Given the description of an element on the screen output the (x, y) to click on. 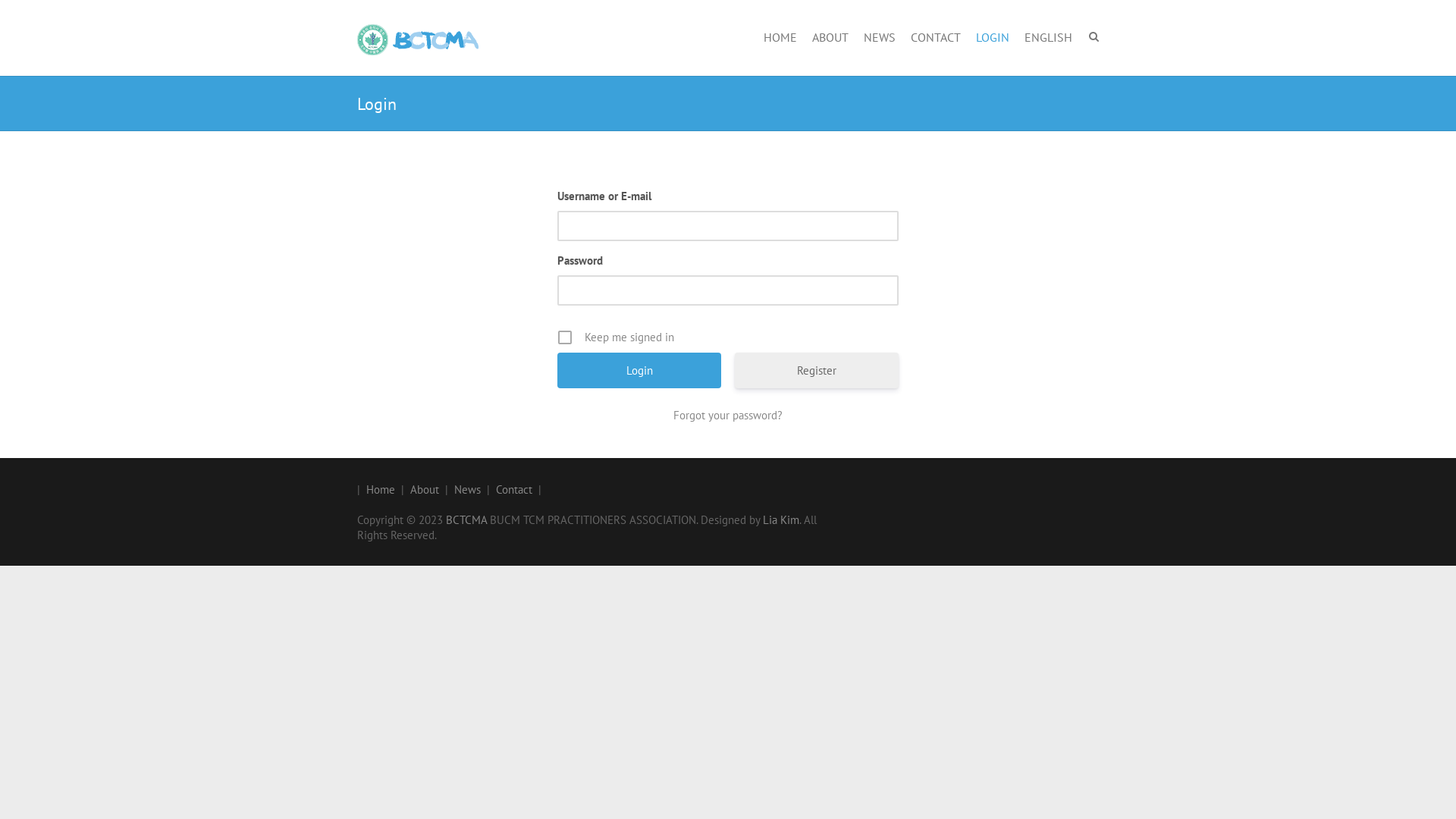
ABOUT Element type: text (830, 37)
Home Element type: text (380, 489)
Lia Kim Element type: text (780, 519)
HOME Element type: text (780, 37)
Login Element type: text (639, 370)
ENGLISH Element type: text (1048, 37)
About Element type: text (424, 489)
CONTACT Element type: text (935, 37)
BCTCMA Element type: text (465, 519)
LOGIN Element type: text (992, 37)
Forgot your password? Element type: text (727, 415)
BCTCMA Element type: hover (417, 39)
News Element type: text (467, 489)
Register Element type: text (816, 370)
NEWS Element type: text (879, 37)
Contact Element type: text (513, 489)
